Given the description of an element on the screen output the (x, y) to click on. 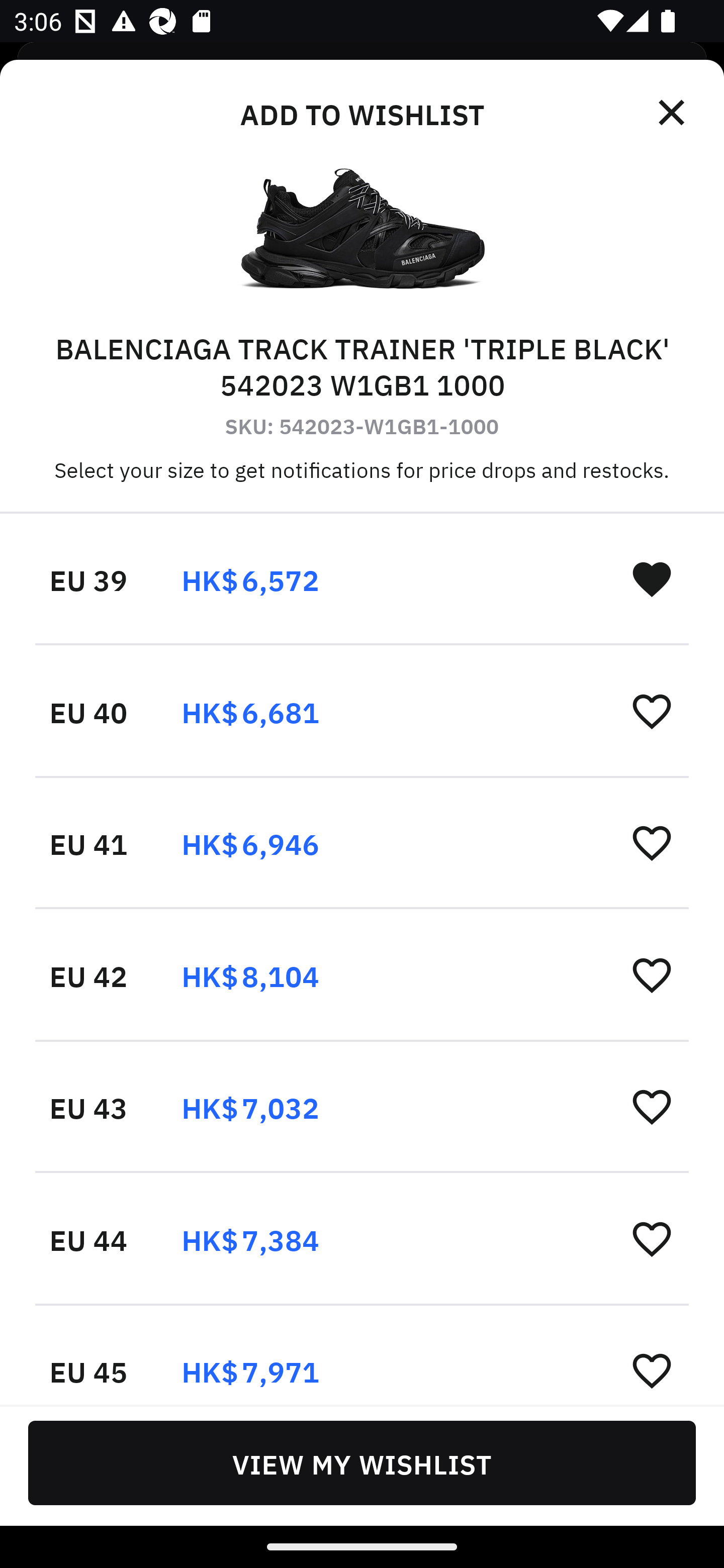
 (672, 112)
󰋑 (651, 578)
󰋕 (651, 710)
󰋕 (651, 842)
󰋕 (651, 974)
󰋕 (651, 1105)
󰋕 (651, 1237)
󰋕 (651, 1369)
VIEW MY WISHLIST (361, 1462)
